Given the description of an element on the screen output the (x, y) to click on. 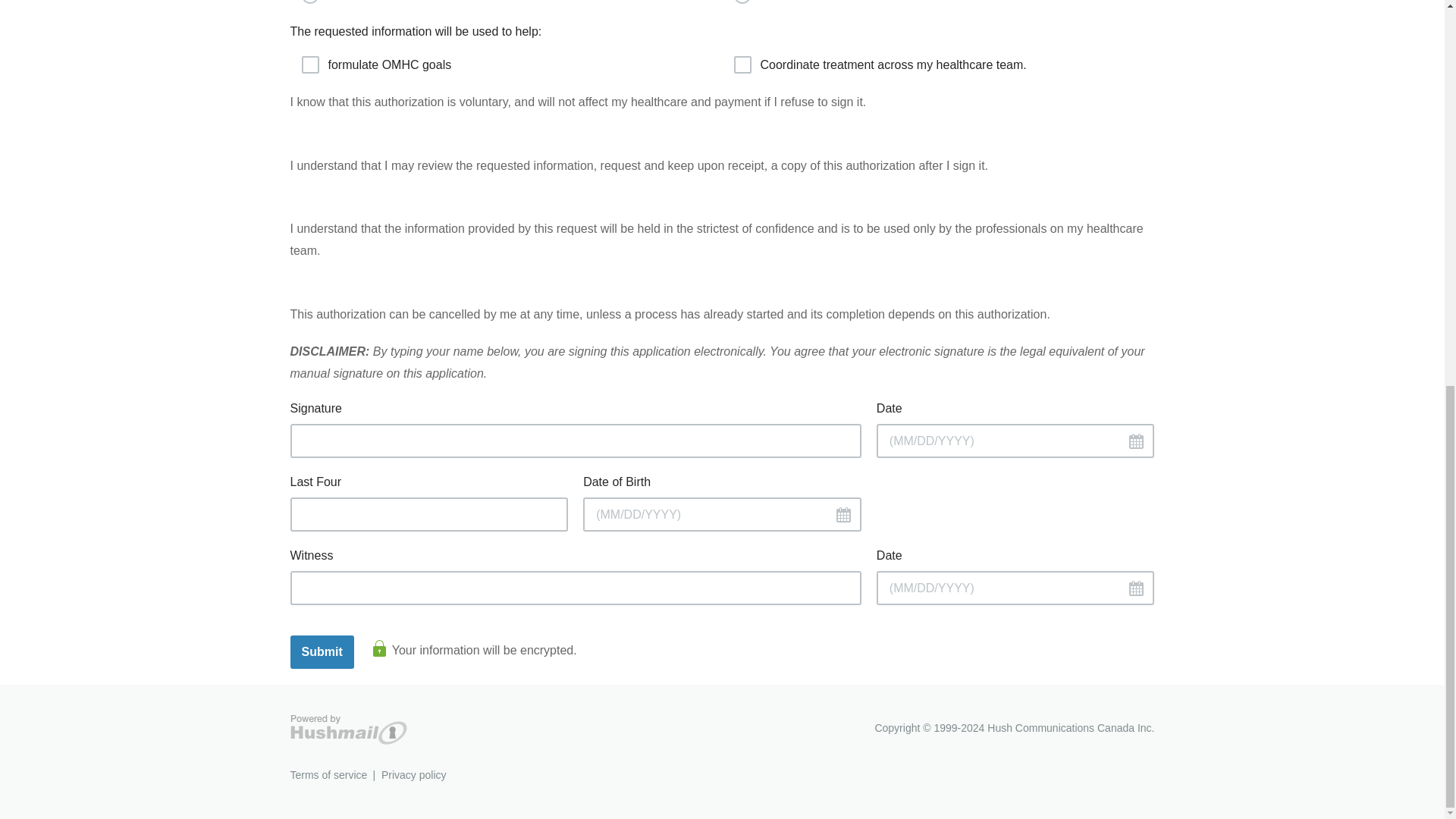
Submit (321, 652)
Hushmail (347, 729)
Terms of service (327, 774)
Privacy policy (413, 774)
